Given the description of an element on the screen output the (x, y) to click on. 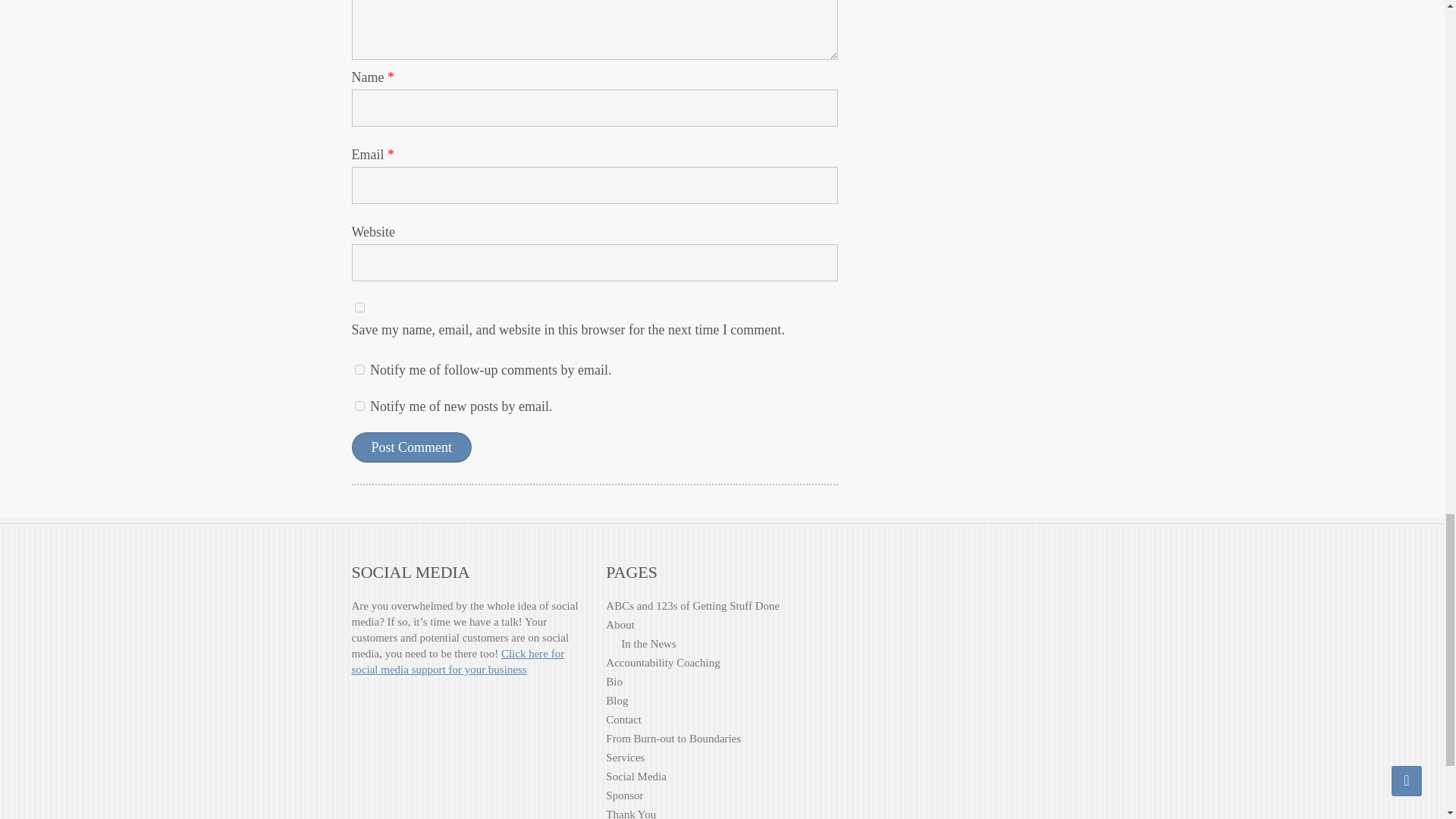
subscribe (360, 406)
subscribe (360, 369)
Post Comment (411, 447)
Post Comment (411, 447)
yes (360, 307)
